Given the description of an element on the screen output the (x, y) to click on. 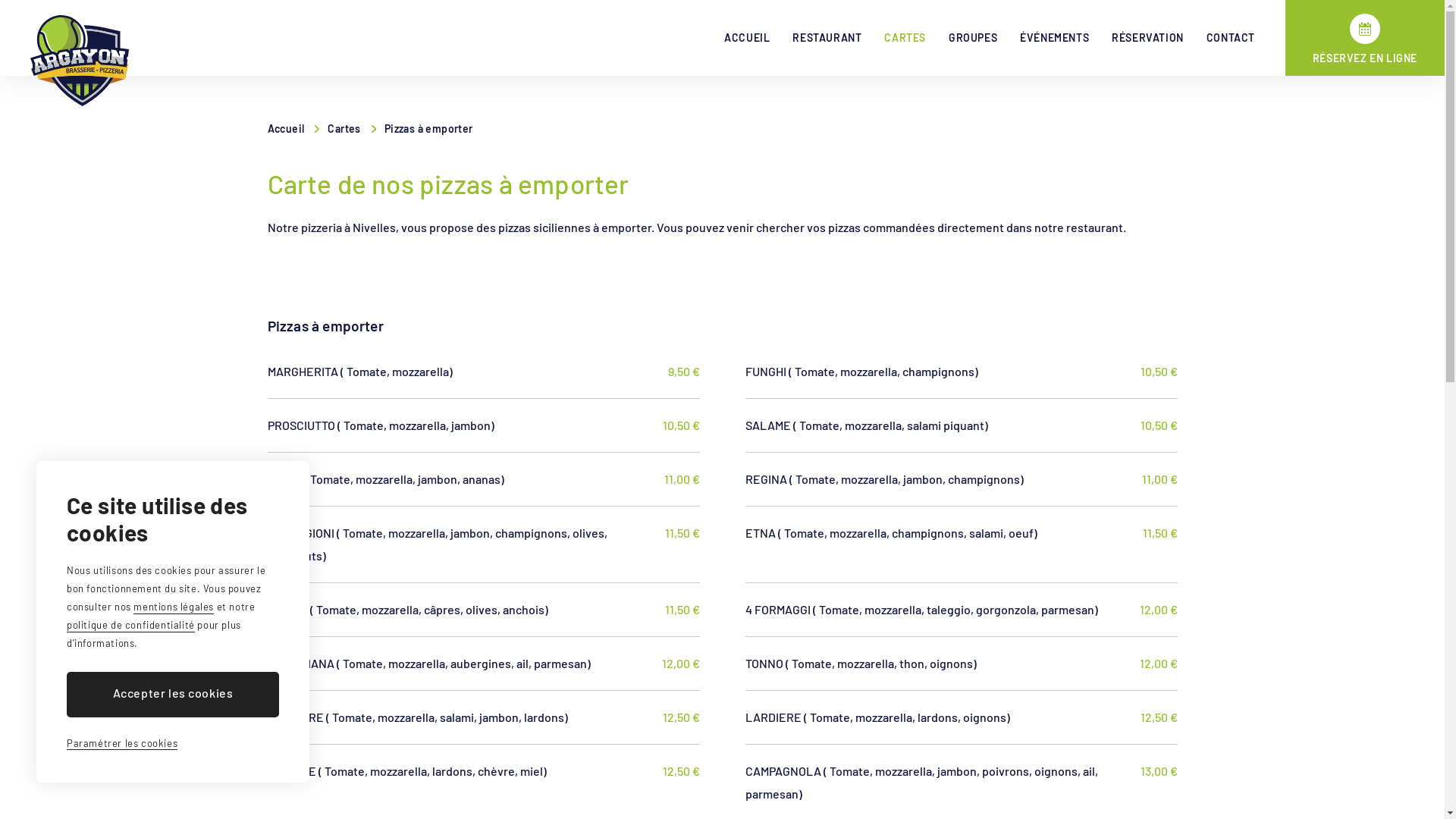
Cartes Element type: text (351, 128)
Accueil Element type: text (292, 128)
CARTES Element type: text (904, 37)
ACCUEIL Element type: text (746, 37)
Argayon Brasserie - Pizzeria Element type: hover (79, 60)
GROUPES Element type: text (972, 37)
CONTACT Element type: text (1230, 37)
RESTAURANT Element type: text (826, 37)
